Given the description of an element on the screen output the (x, y) to click on. 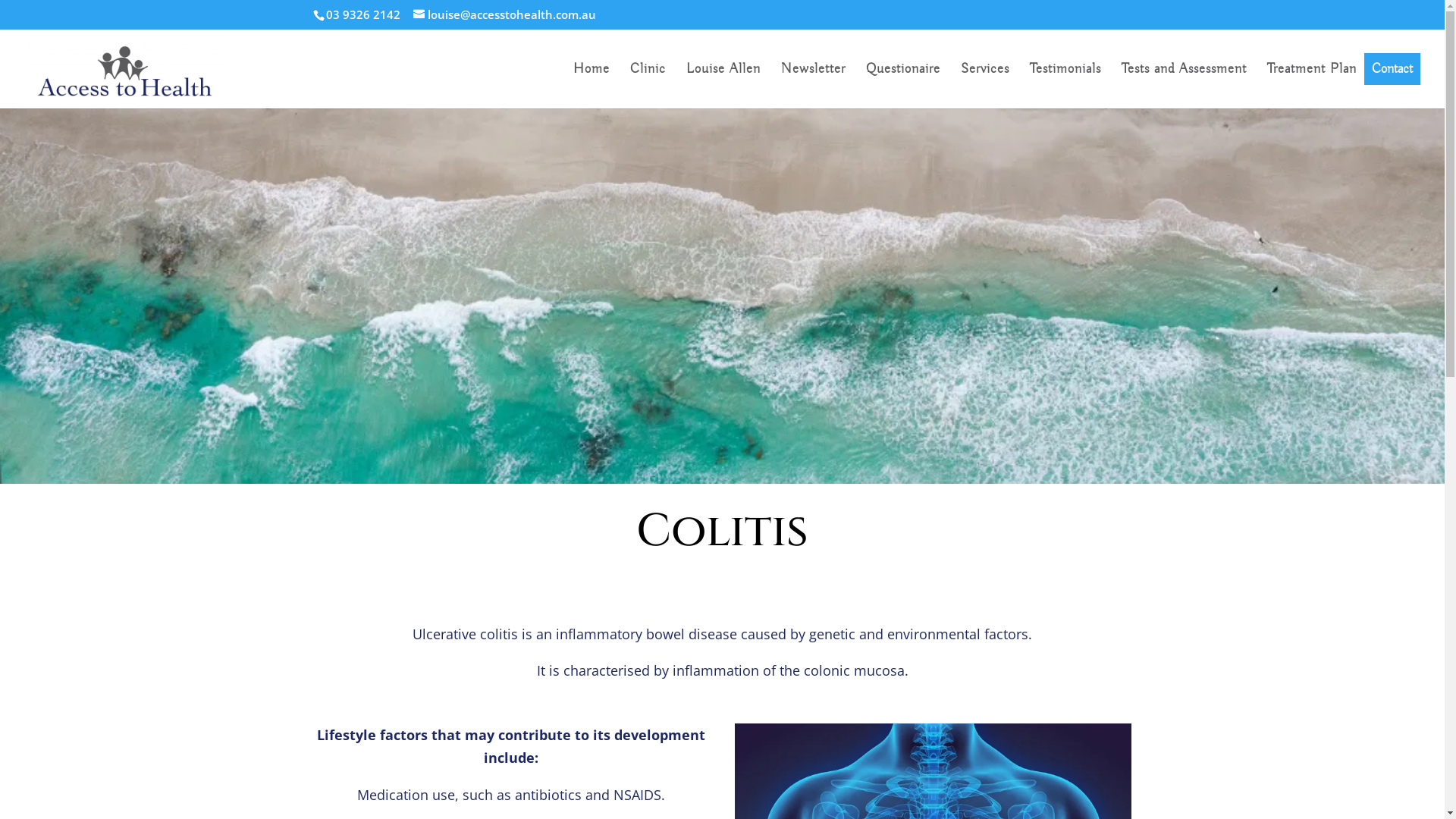
Newsletter Element type: text (813, 85)
Questionaire Element type: text (903, 85)
Clinic Element type: text (647, 85)
louise@accesstohealth.com.au Element type: text (503, 13)
Contact Element type: text (1391, 68)
Healthy Living Moonee Ponds Element type: hover (722, 295)
Louise Allen Element type: text (723, 85)
Contact Element type: text (1392, 68)
Home Element type: text (591, 85)
Testimonials Element type: text (1065, 85)
Tests and Assessment Element type: text (1183, 85)
Services Element type: text (984, 85)
Treatment Plan Element type: text (1311, 85)
